Given the description of an element on the screen output the (x, y) to click on. 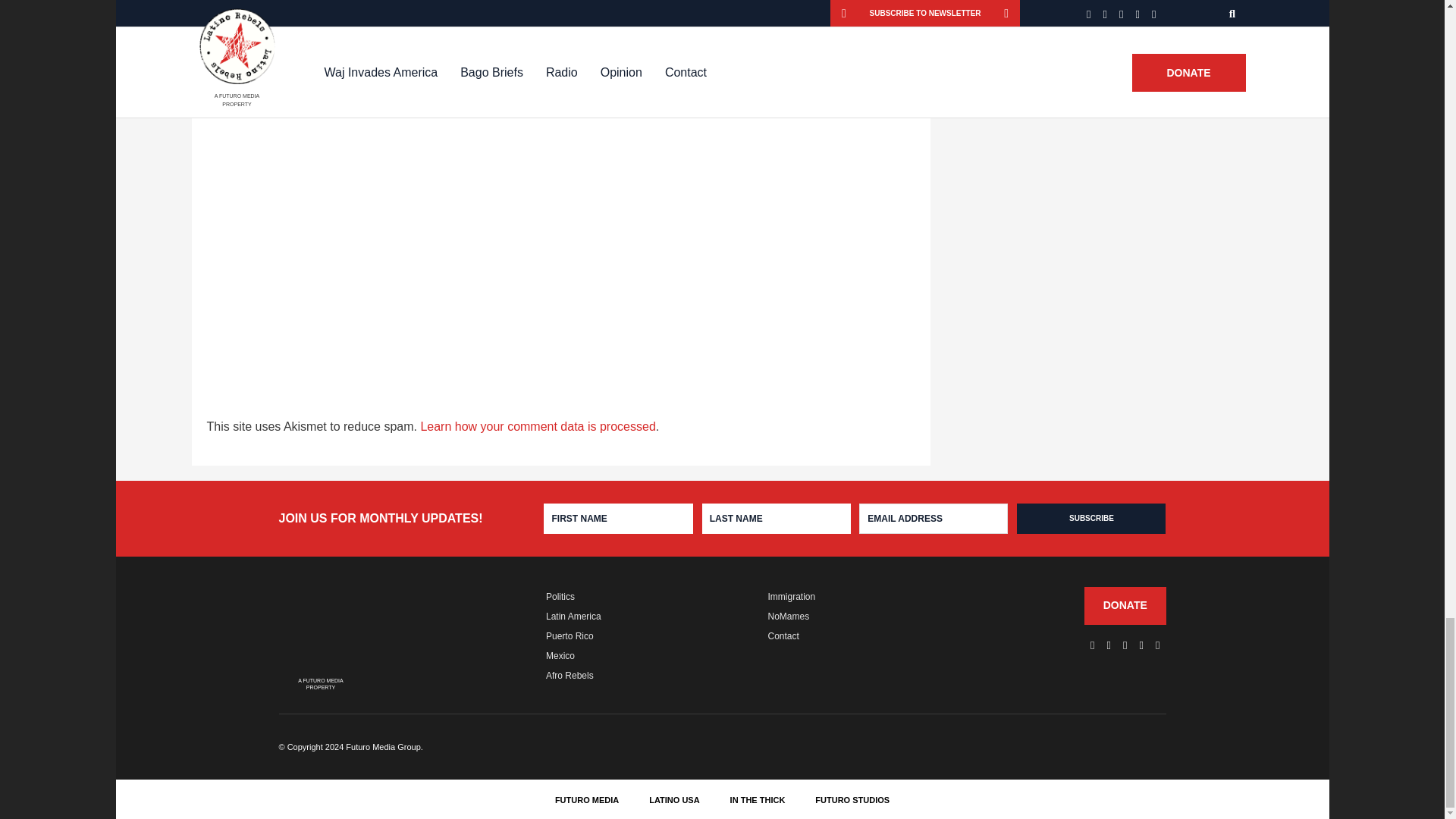
Subscribe (1091, 518)
